Given the description of an element on the screen output the (x, y) to click on. 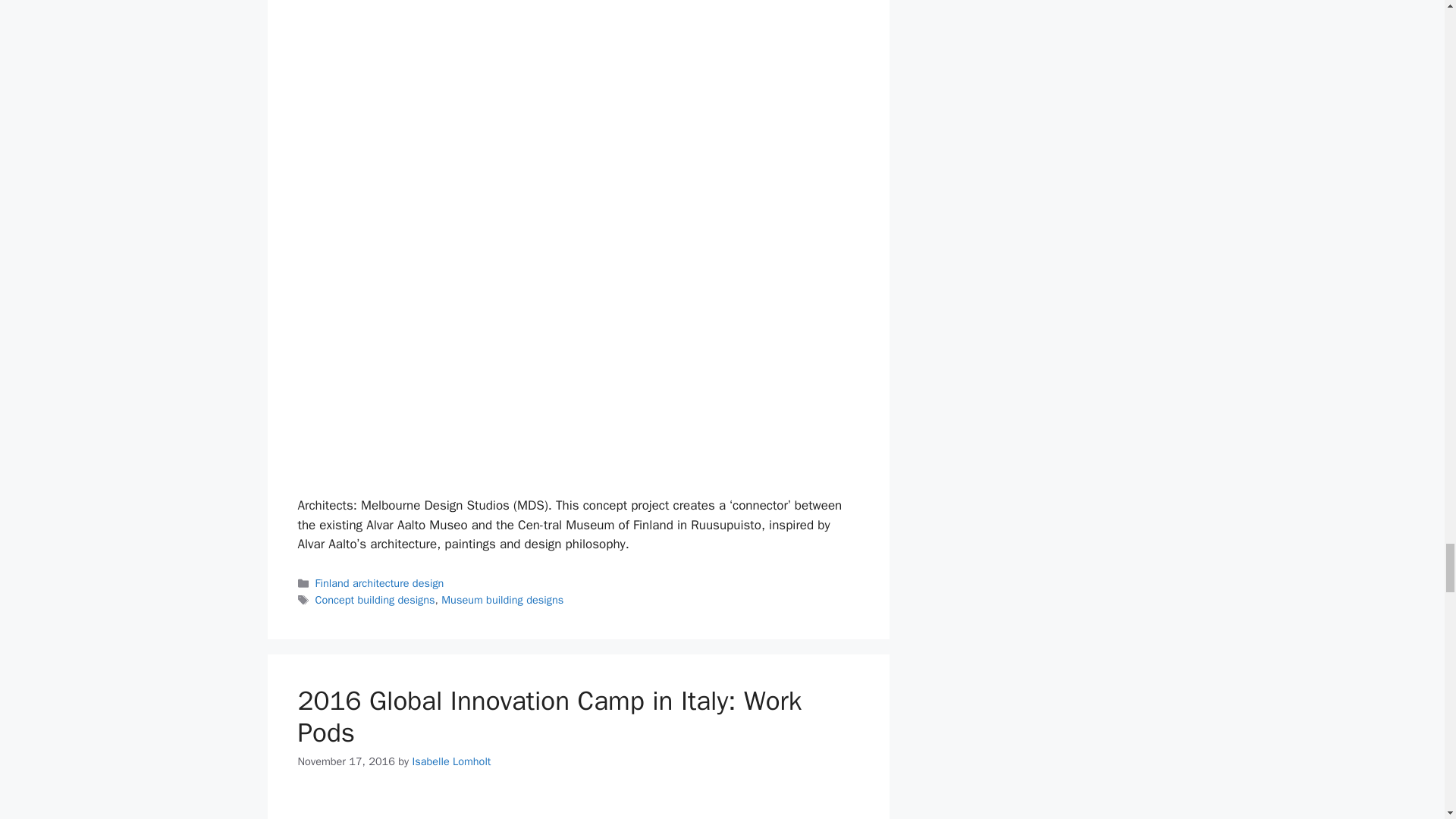
View all posts by Isabelle Lomholt (451, 761)
